Given the description of an element on the screen output the (x, y) to click on. 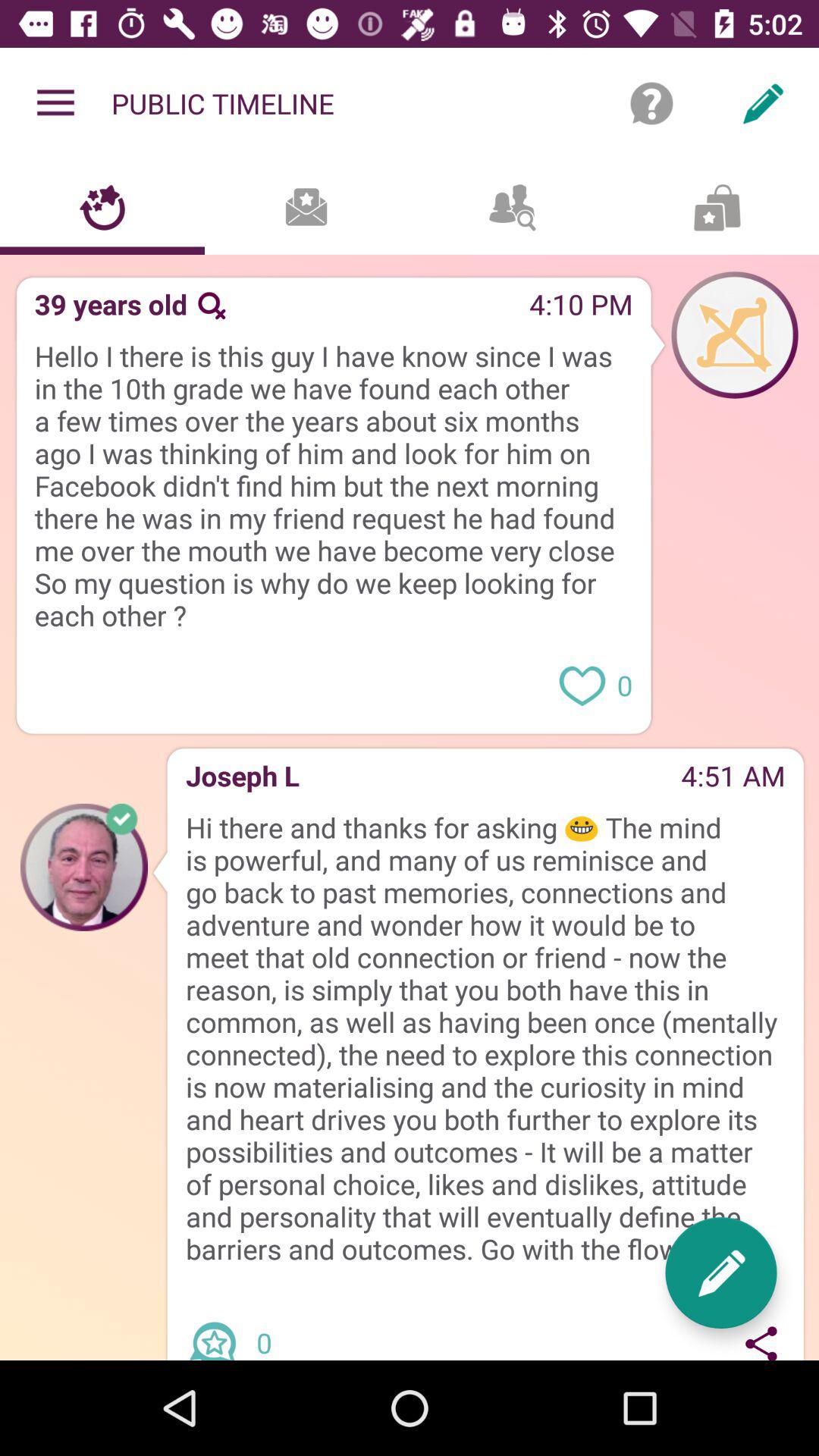
turn on the icon next to the public timeline item (55, 103)
